Given the description of an element on the screen output the (x, y) to click on. 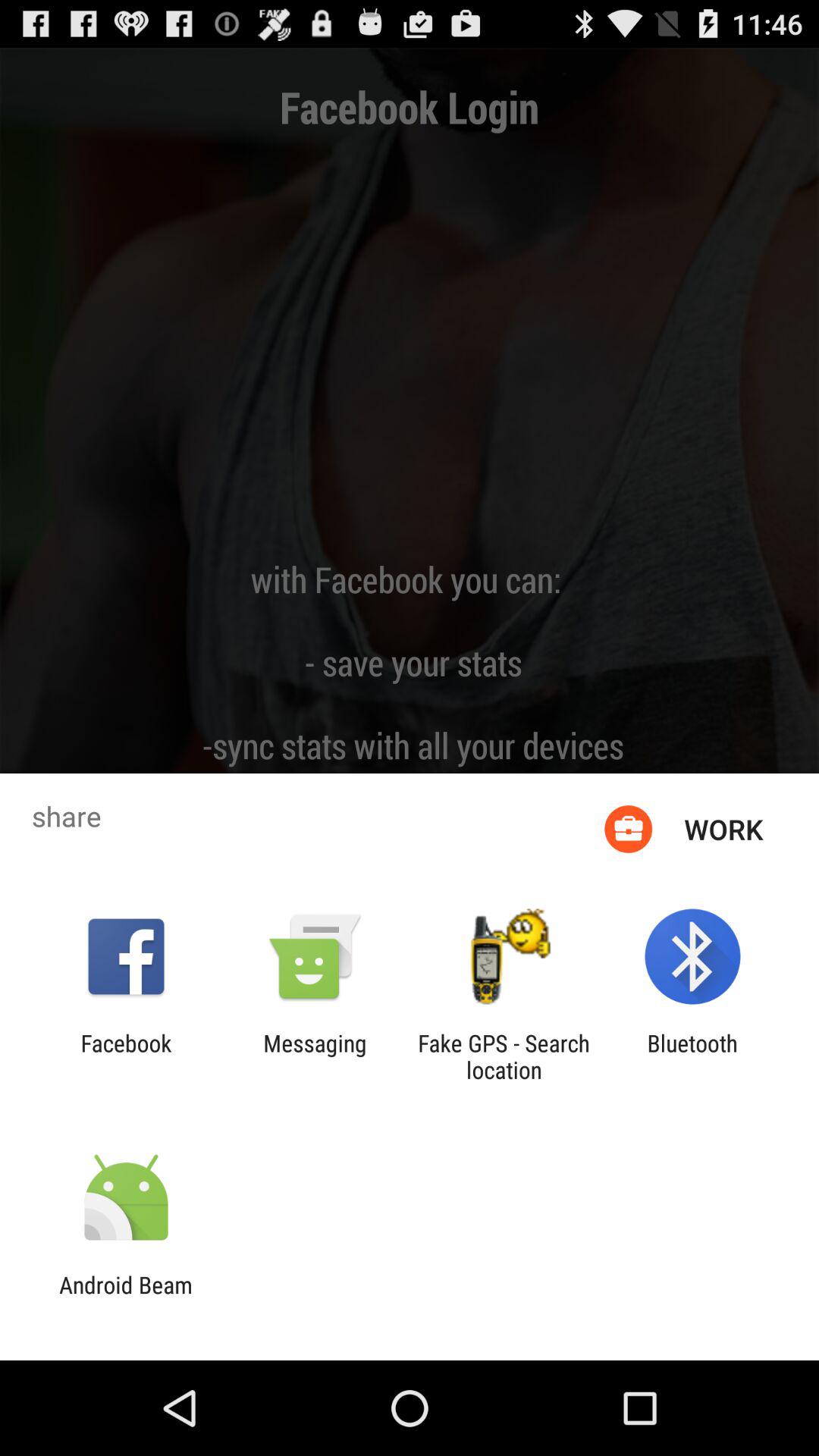
press the app to the left of messaging item (125, 1056)
